Given the description of an element on the screen output the (x, y) to click on. 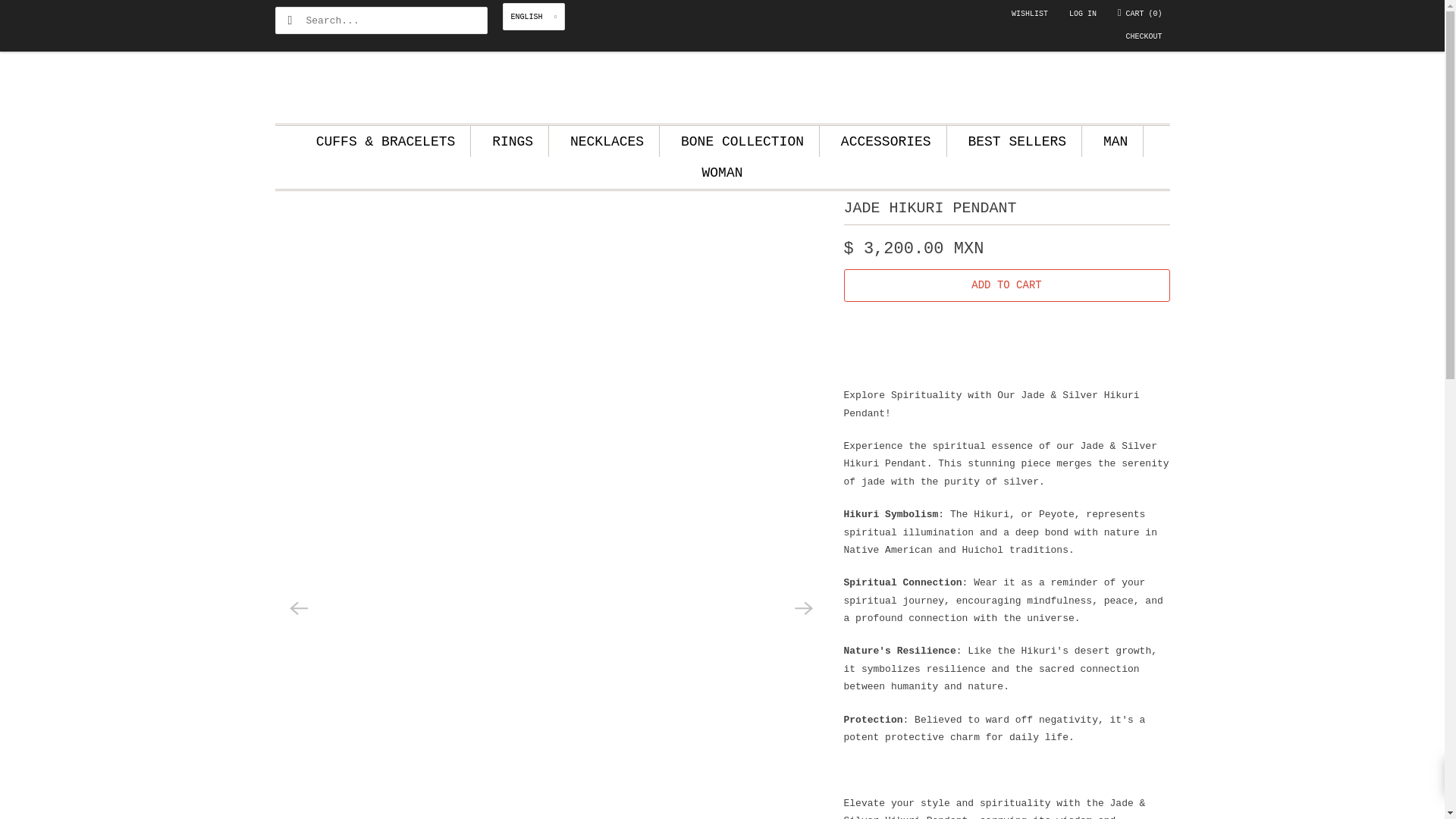
LOG IN (1082, 14)
ENGLISH (533, 16)
MAN (1114, 141)
ACCESSORIES (886, 141)
WISHLIST (1029, 14)
RINGS (512, 141)
BEST SELLERS (1016, 141)
BONE COLLECTION (742, 141)
137 Design (722, 91)
CHECKOUT (1143, 36)
WOMAN (721, 172)
NECKLACES (606, 141)
